Given the description of an element on the screen output the (x, y) to click on. 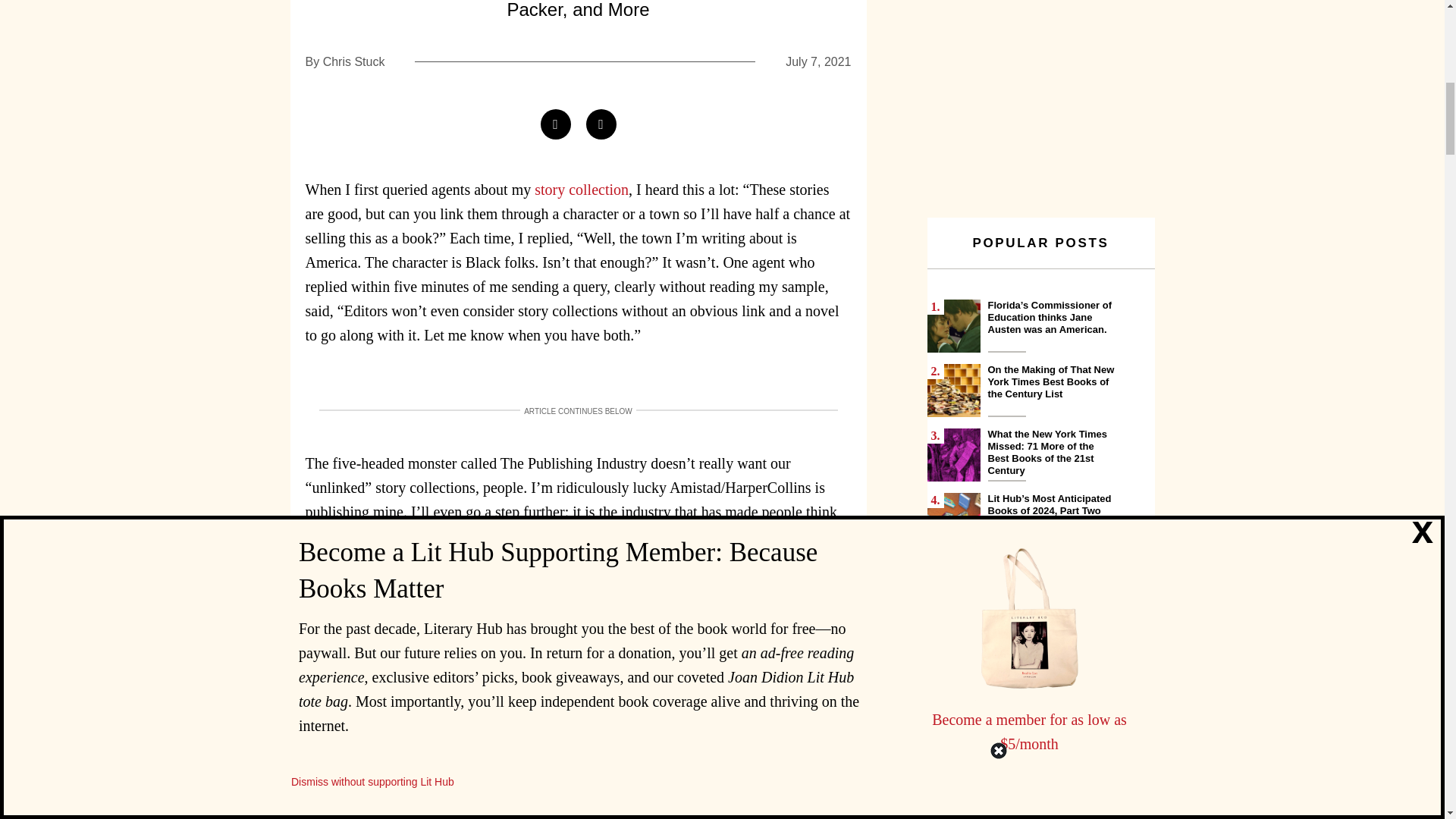
3rd party ad content (1040, 91)
